Given the description of an element on the screen output the (x, y) to click on. 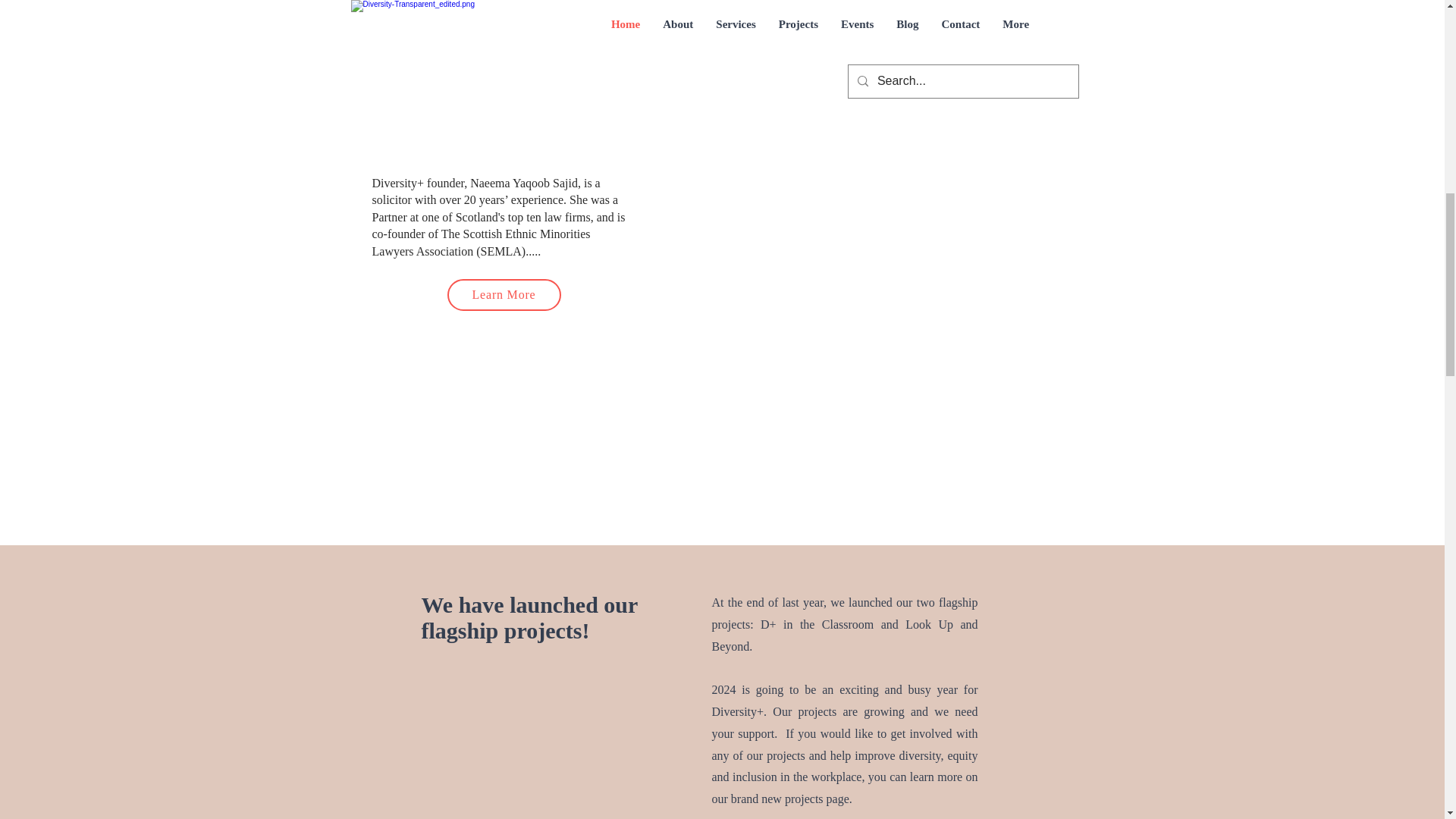
Learn More (503, 295)
